Given the description of an element on the screen output the (x, y) to click on. 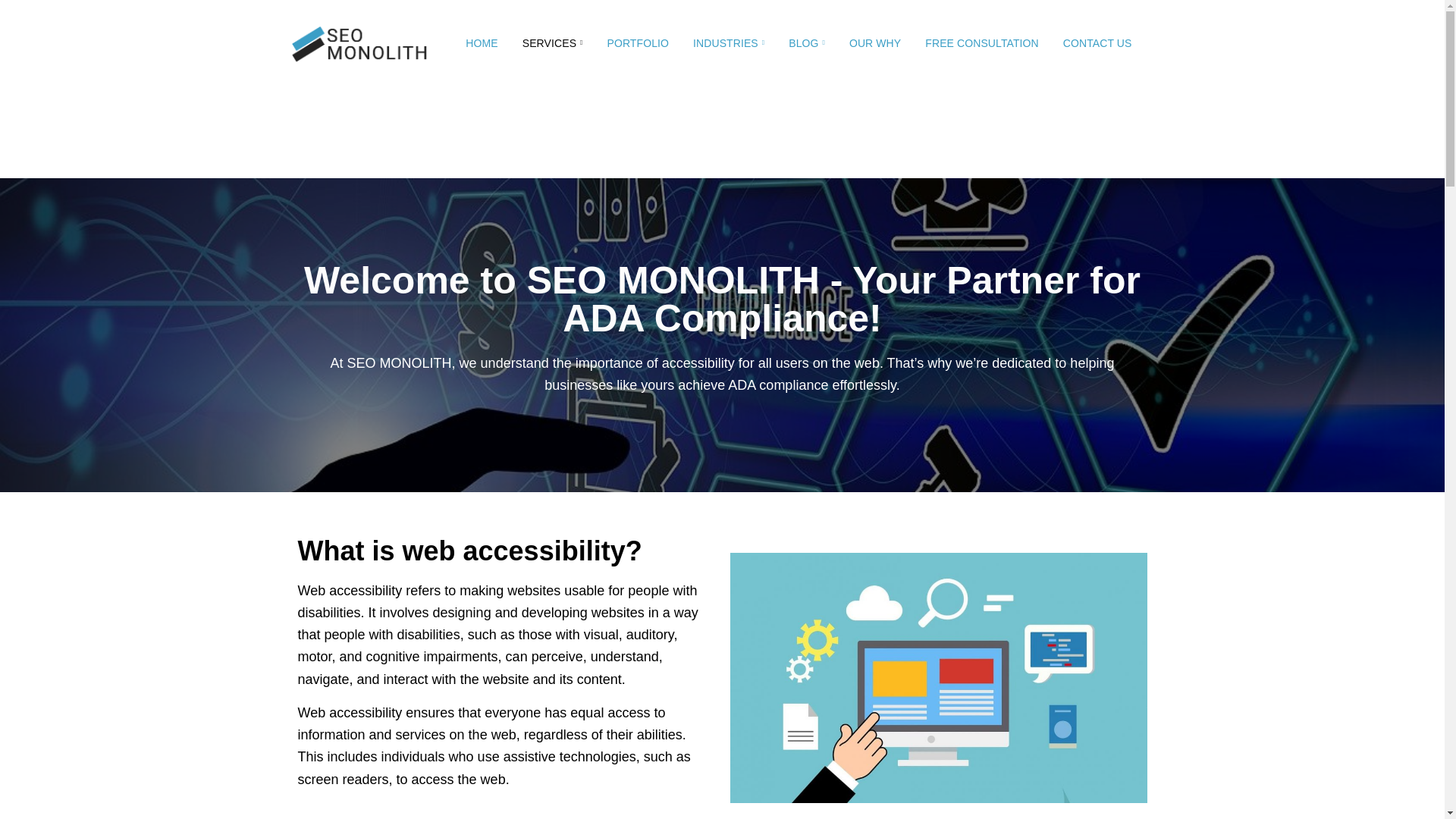
INDUSTRIES (728, 43)
PORTFOLIO (637, 43)
HOME (480, 43)
CONTACT US (1097, 43)
SERVICES (553, 43)
BLOG (806, 43)
FREE CONSULTATION (981, 43)
SEO Monolith Consulting (357, 42)
OUR WHY (874, 43)
